Given the description of an element on the screen output the (x, y) to click on. 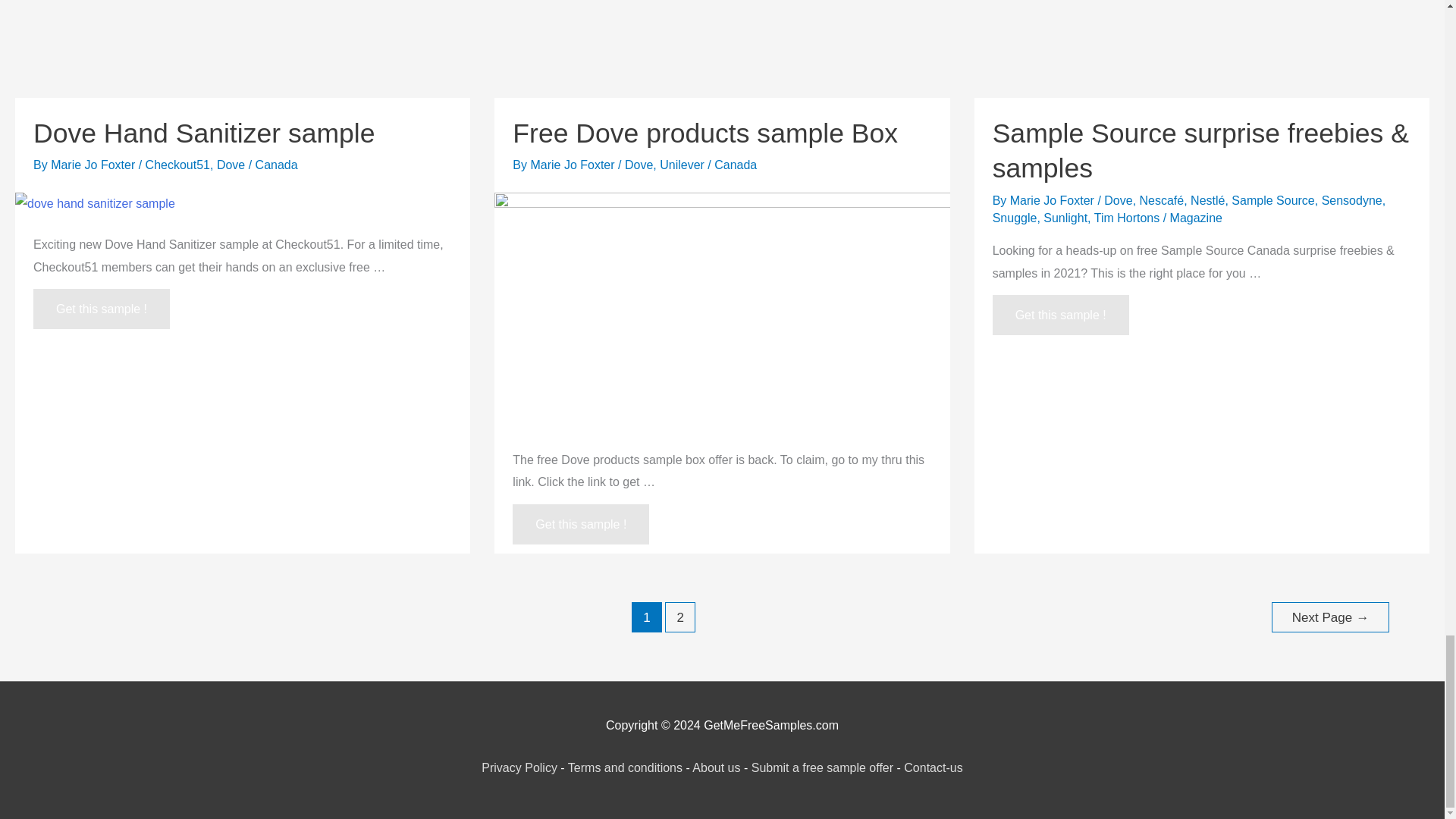
View all posts by Marie Jo Foxter (94, 164)
View all posts by Marie Jo Foxter (573, 164)
View all posts by Marie Jo Foxter (1053, 200)
